Given the description of an element on the screen output the (x, y) to click on. 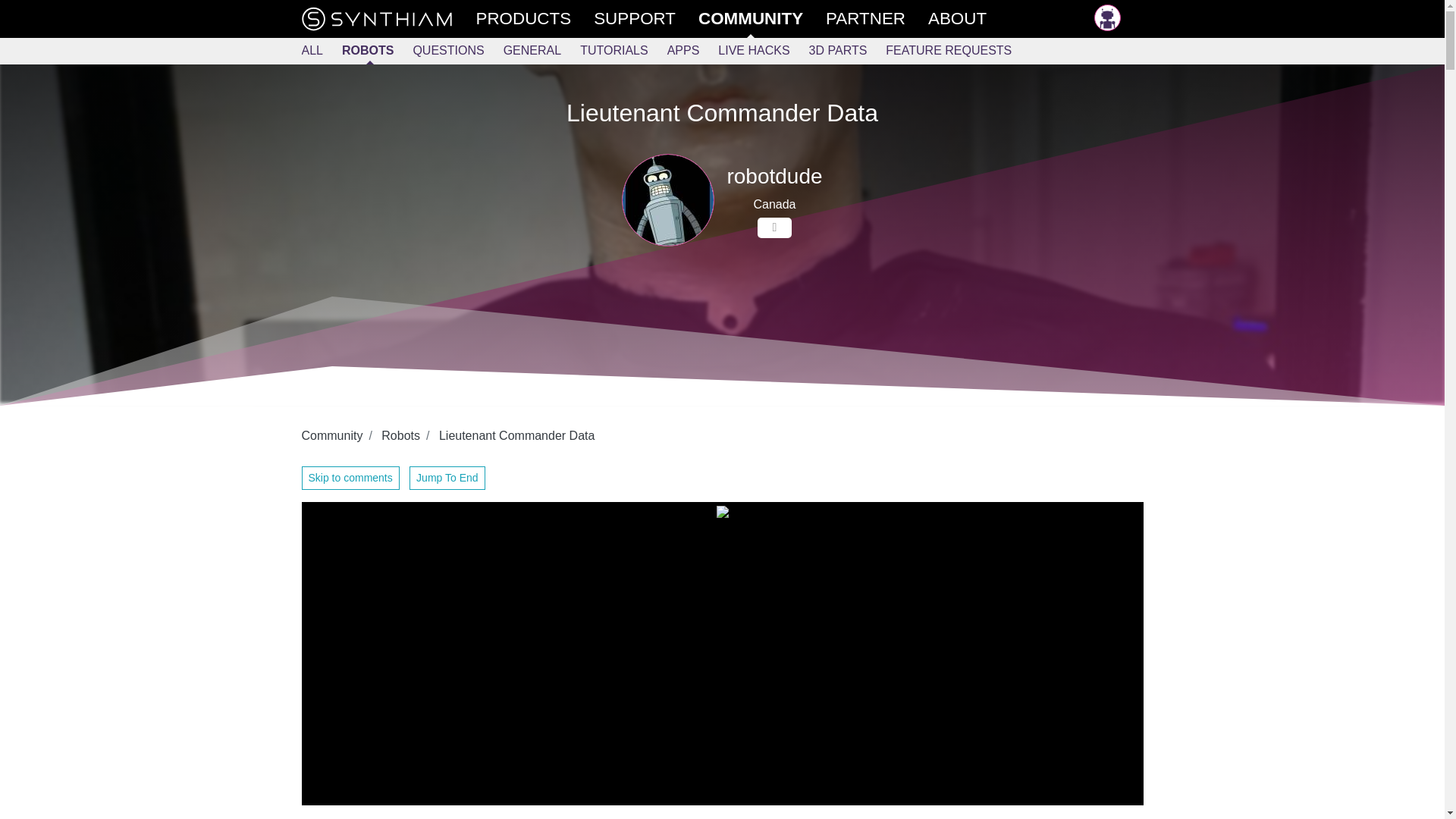
Robots (400, 435)
APPS (692, 50)
TUTORIALS (622, 50)
ABOUT (968, 18)
Jump To End (446, 477)
QUESTIONS (457, 50)
PRODUCTS (535, 18)
Community (331, 435)
SUPPORT (646, 18)
LIVE HACKS (762, 50)
3D PARTS (847, 50)
Lieutenant Commander Data (516, 435)
ALL (321, 50)
Skip to comments (349, 477)
COMMUNITY (761, 18)
